Given the description of an element on the screen output the (x, y) to click on. 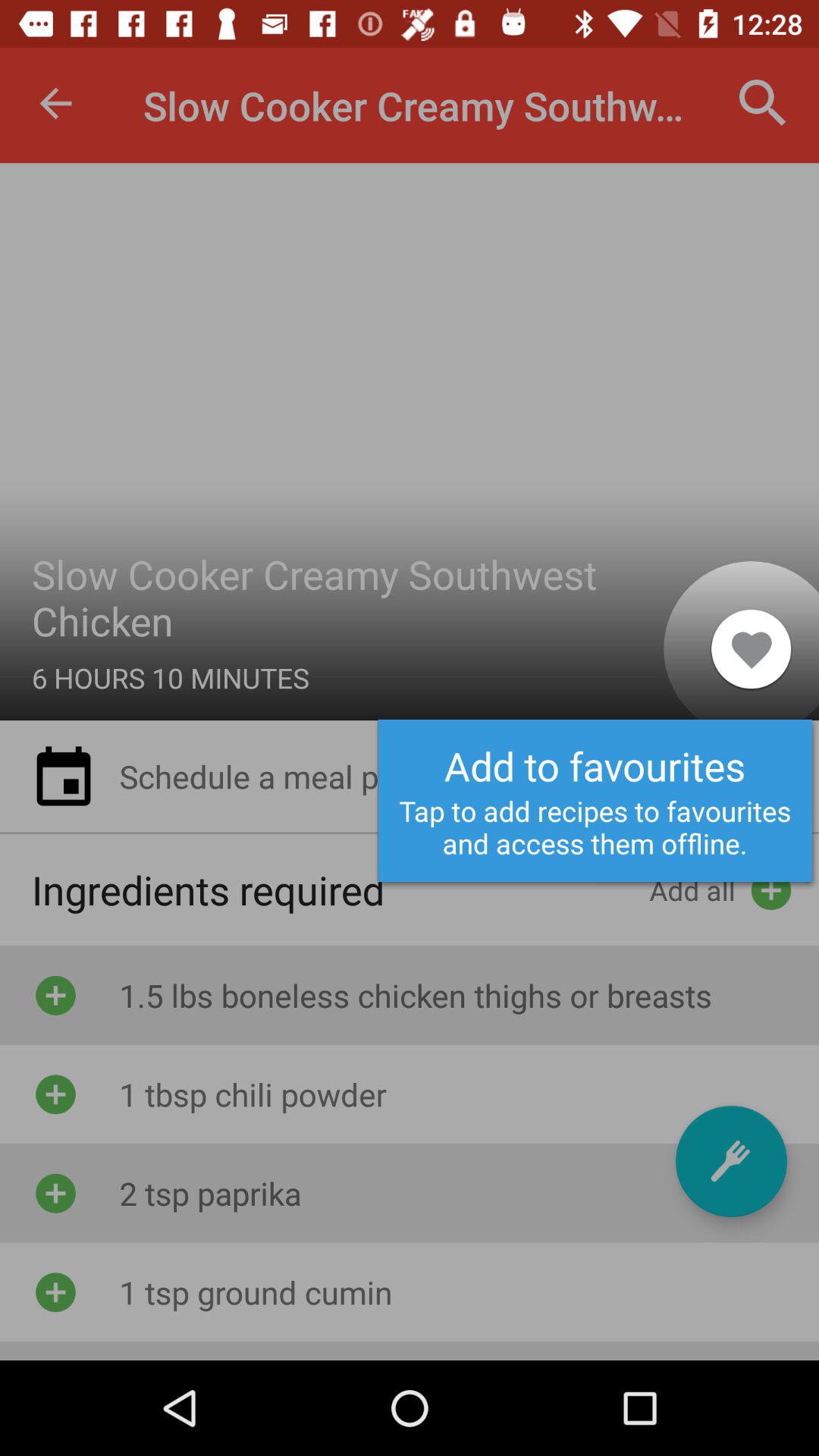
click item to the left of slow cooker creamy item (55, 103)
